Given the description of an element on the screen output the (x, y) to click on. 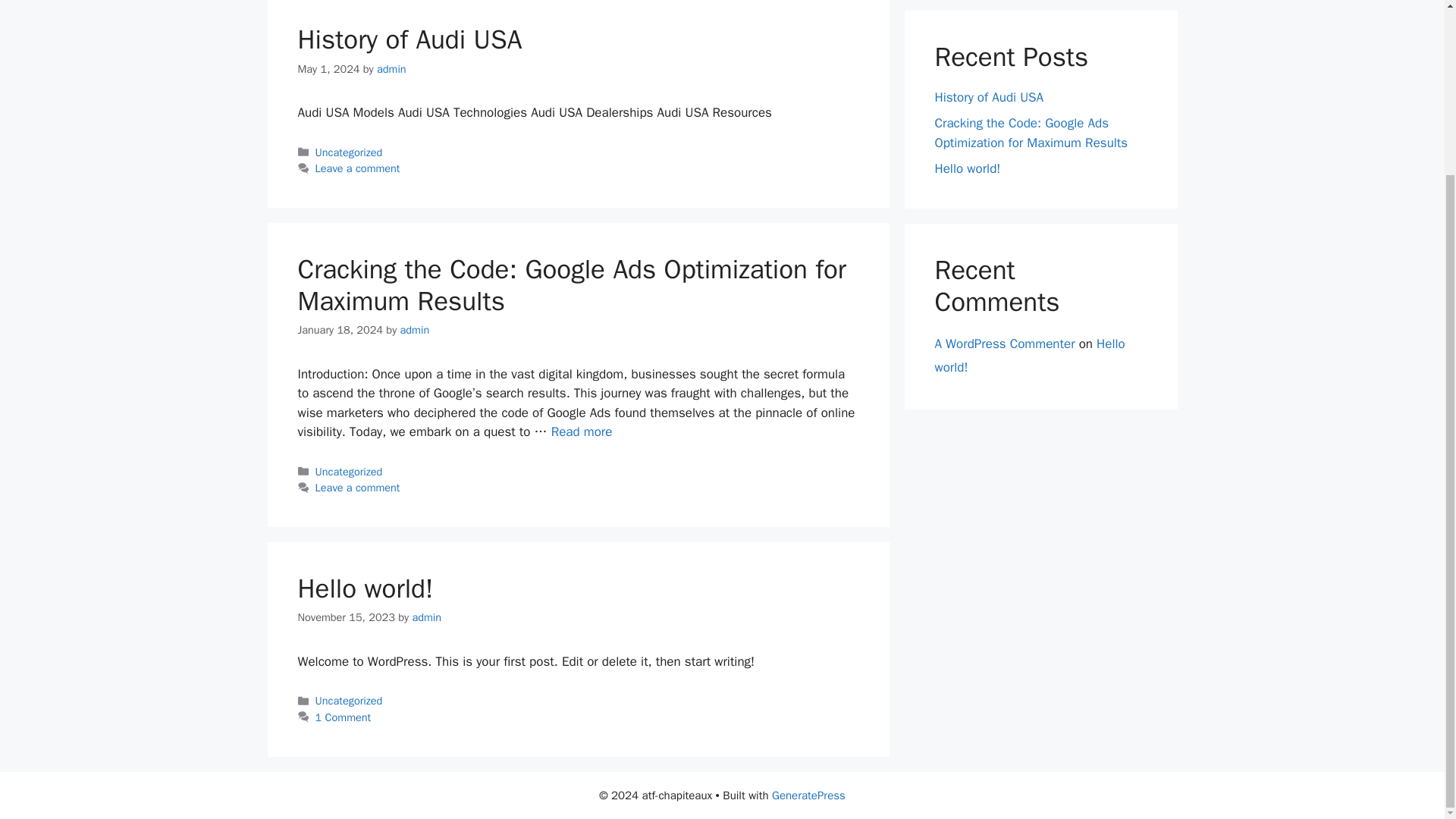
Uncategorized (348, 151)
View all posts by admin (426, 617)
1 Comment (343, 716)
Hello world! (967, 167)
View all posts by admin (391, 69)
History of Audi USA (409, 39)
Hello world! (364, 588)
Hello world! (1029, 355)
Uncategorized (348, 700)
admin (426, 617)
History of Audi USA (988, 97)
Read more (581, 431)
